Given the description of an element on the screen output the (x, y) to click on. 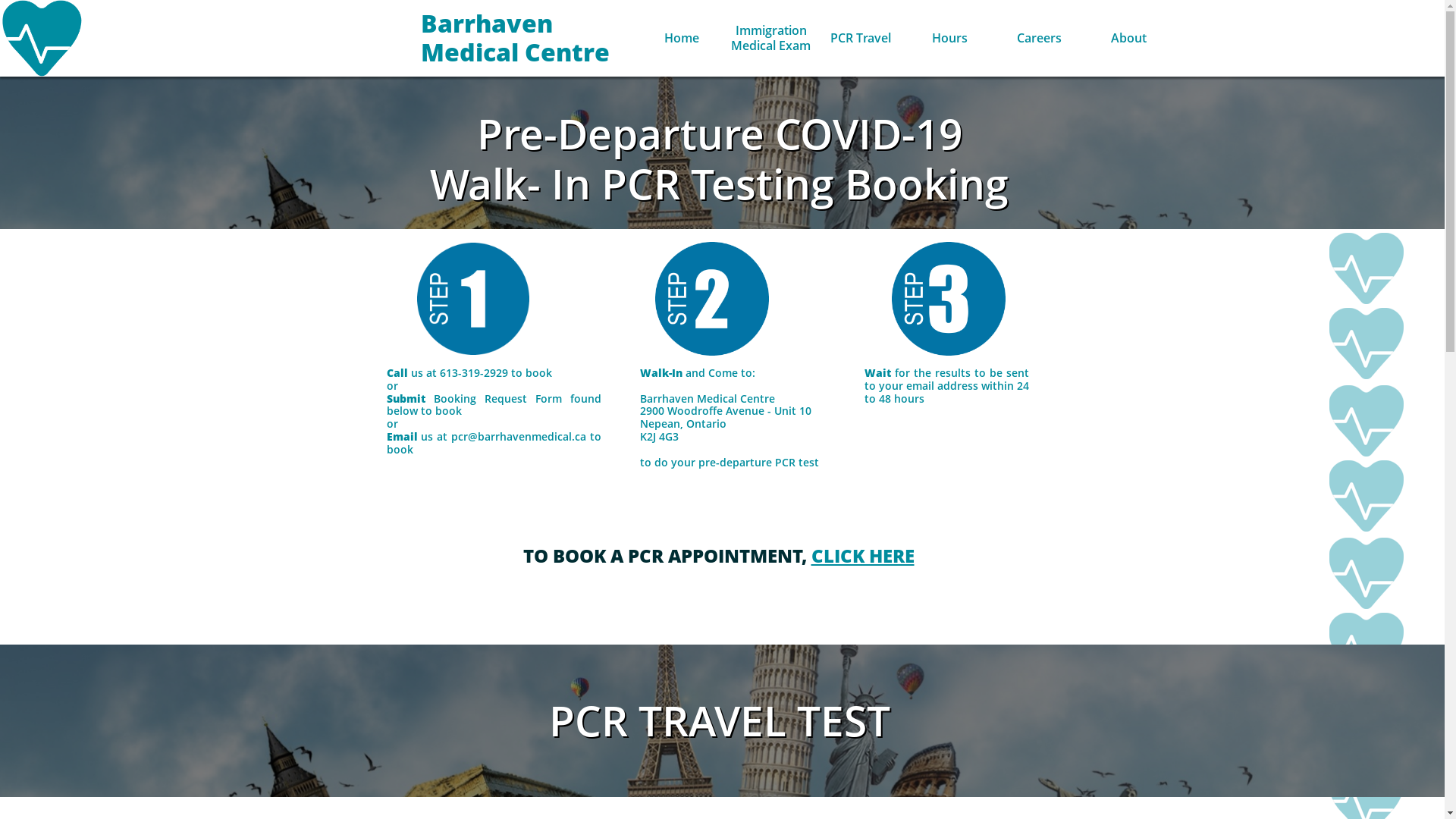
About Element type: text (1128, 38)
CLICK HERE Element type: text (862, 554)
Hours Element type: text (949, 38)
PCR Travel Element type: text (860, 38)
Careers Element type: text (1039, 38)
Home Element type: text (681, 38)
Immigration Medical Exam Element type: text (770, 38)
Barrhaven Medical Centre Element type: text (521, 38)
